Given the description of an element on the screen output the (x, y) to click on. 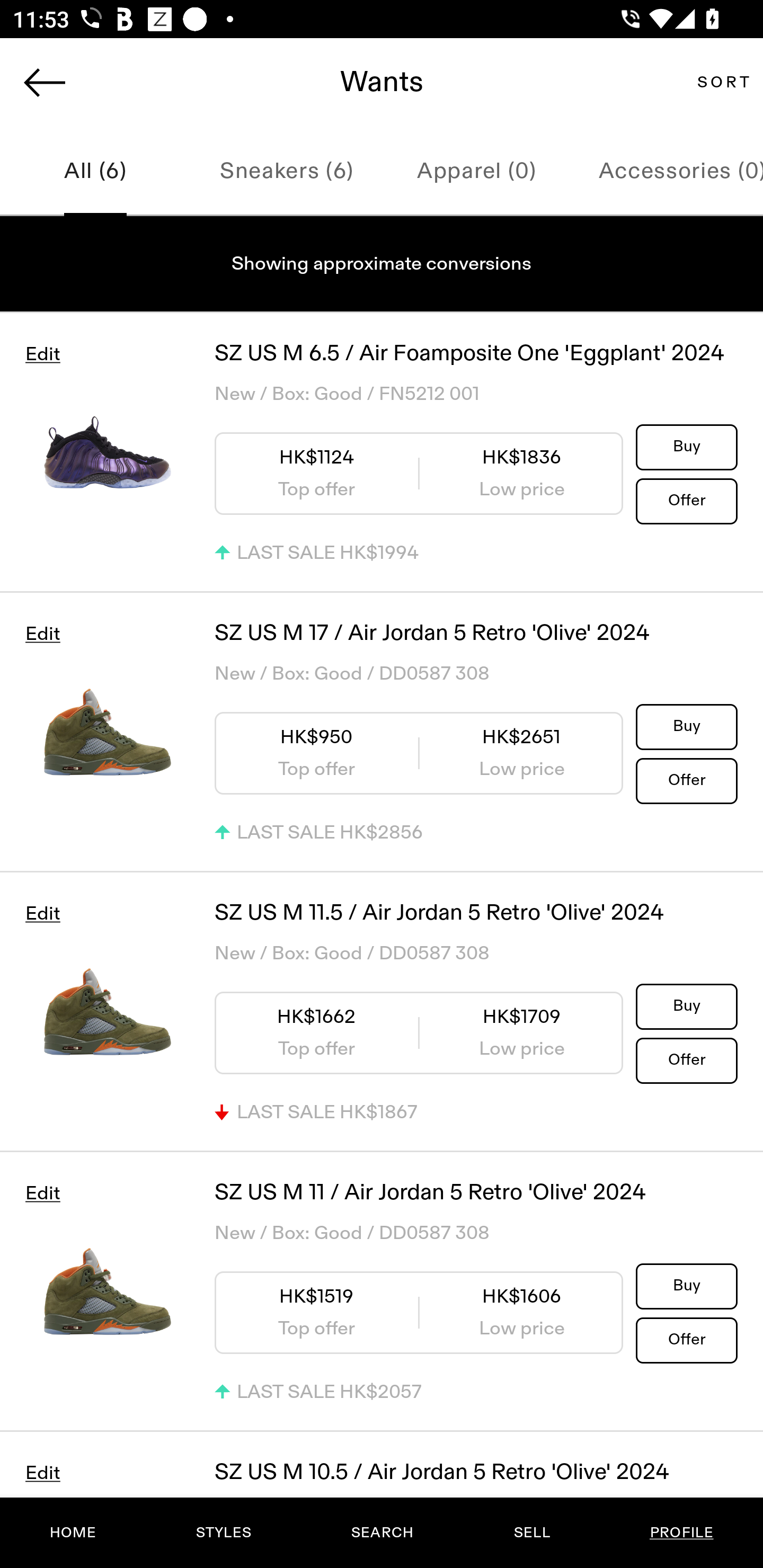
SORT (722, 81)
Sneakers (6) (285, 171)
Apparel (0) (476, 171)
Accessories (0) (667, 171)
Edit (42, 353)
Buy (686, 446)
HK$1124 HK$1836 Top offer Low price (418, 473)
Offer (686, 499)
Edit (42, 633)
Buy (686, 725)
HK$950 HK$2651 Top offer Low price (418, 752)
Offer (686, 779)
Edit (42, 913)
Buy (686, 1005)
HK$1662 HK$1709 Top offer Low price (418, 1032)
Offer (686, 1059)
Edit (42, 1192)
Buy (686, 1285)
HK$1519 HK$1606 Top offer Low price (418, 1312)
Offer (686, 1339)
Edit (42, 1472)
HOME (72, 1532)
STYLES (222, 1532)
SEARCH (381, 1532)
SELL (531, 1532)
PROFILE (681, 1532)
